Given the description of an element on the screen output the (x, y) to click on. 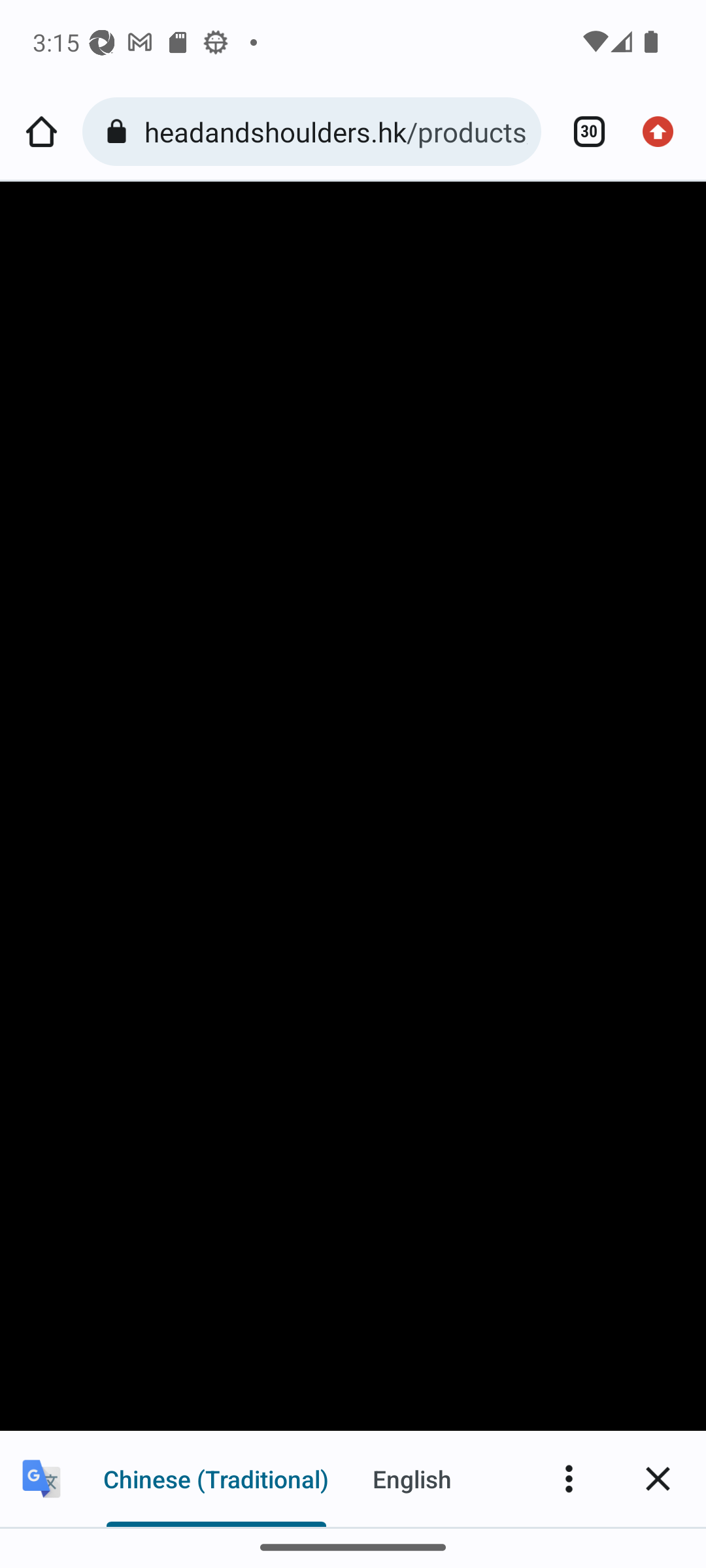
Home (41, 131)
Connection is secure (120, 131)
Switch or close tabs (582, 131)
Update available. More options (664, 131)
English (411, 1478)
More options (568, 1478)
Close (657, 1478)
